Given the description of an element on the screen output the (x, y) to click on. 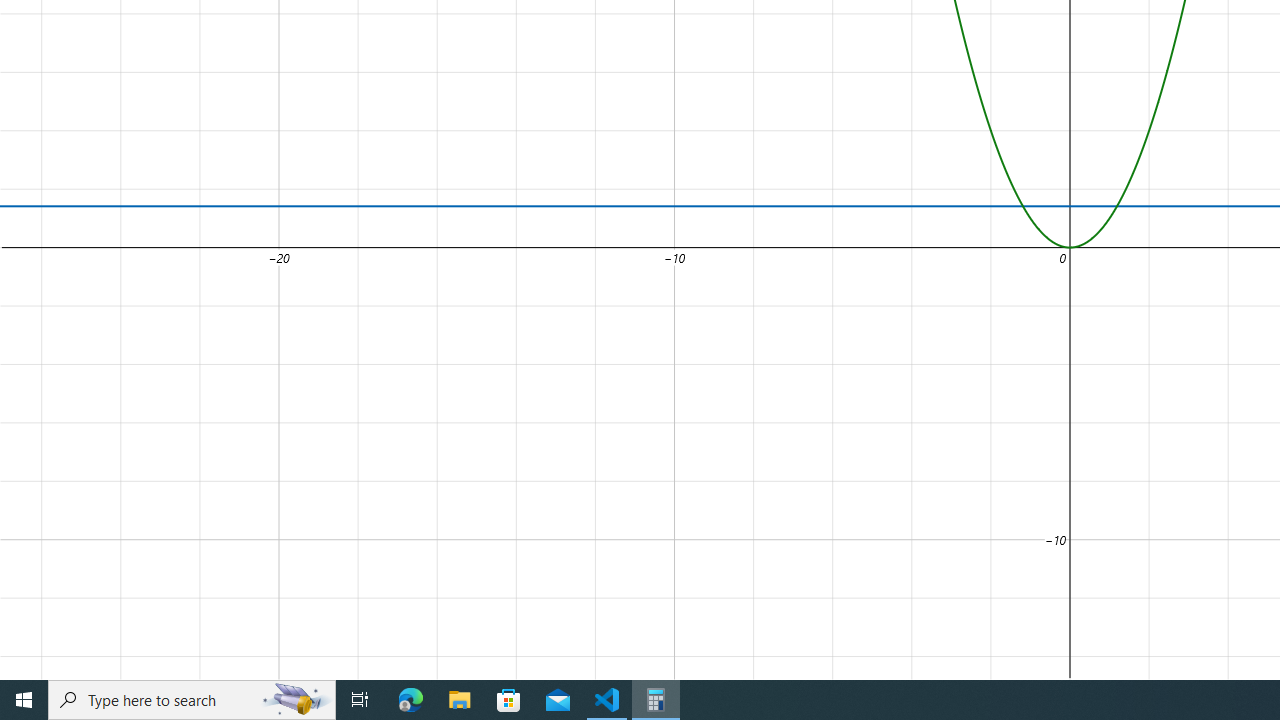
Calculator - 1 running window (656, 699)
